Given the description of an element on the screen output the (x, y) to click on. 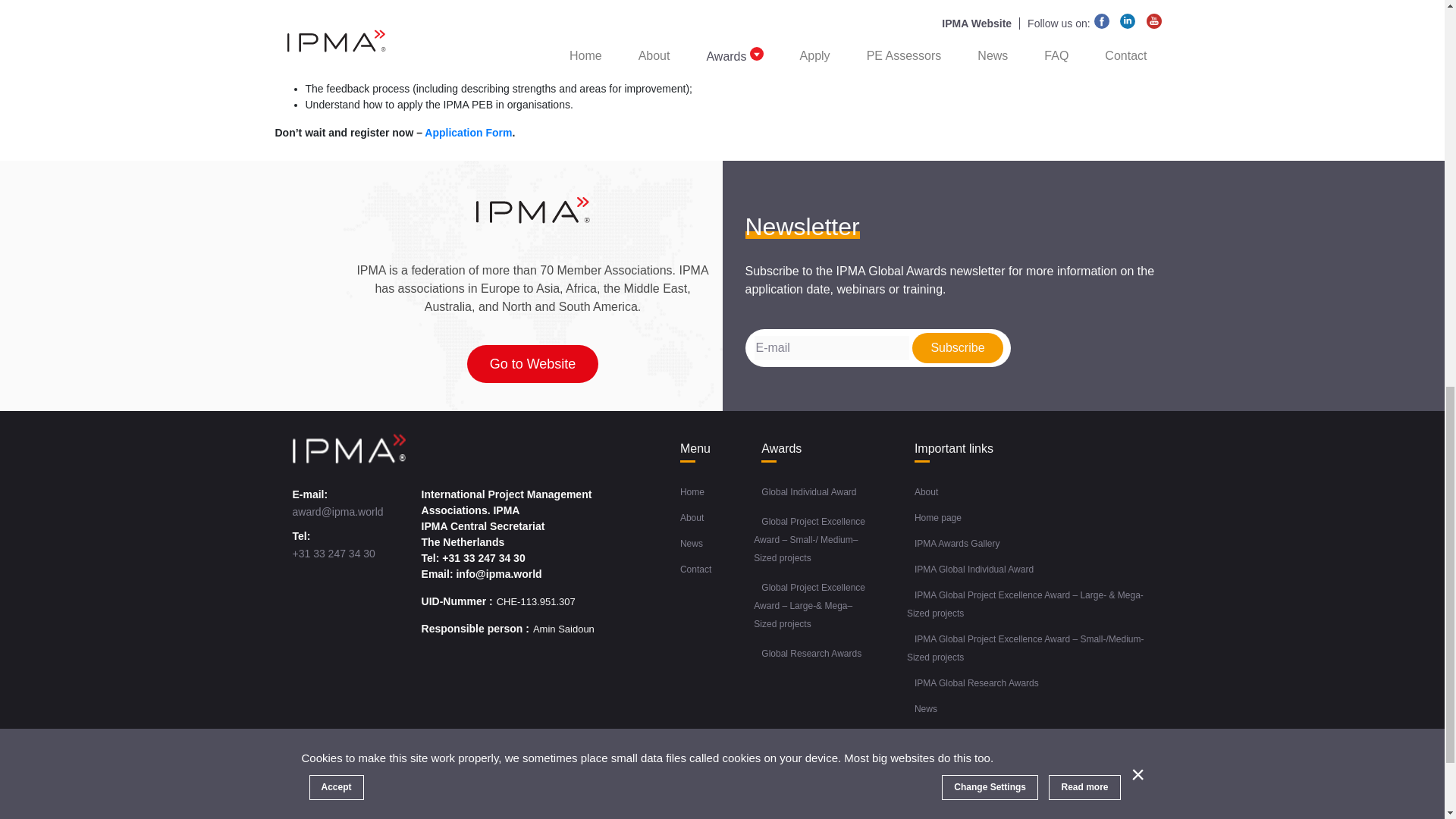
Home (692, 492)
Global Individual Award (808, 492)
About (692, 517)
Contact (695, 569)
Application Form (468, 132)
News (691, 543)
Go to Website (532, 363)
Subscribe (957, 347)
Subscribe (957, 347)
